Given the description of an element on the screen output the (x, y) to click on. 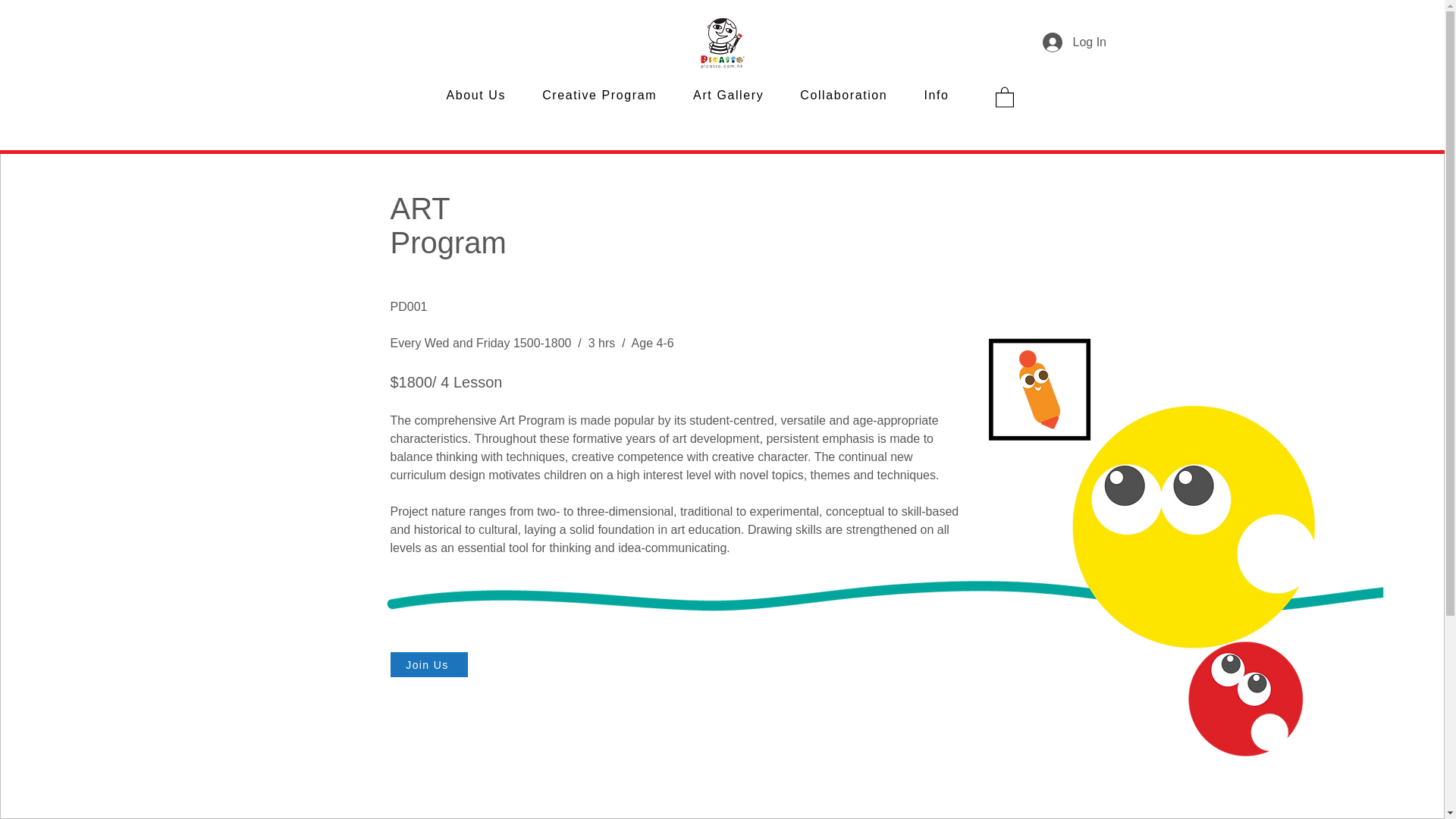
Art Gallery (728, 96)
Info (935, 96)
About Us (475, 96)
Creative Program (599, 96)
Collaboration (843, 96)
Log In (1061, 41)
Join Us (428, 664)
